Given the description of an element on the screen output the (x, y) to click on. 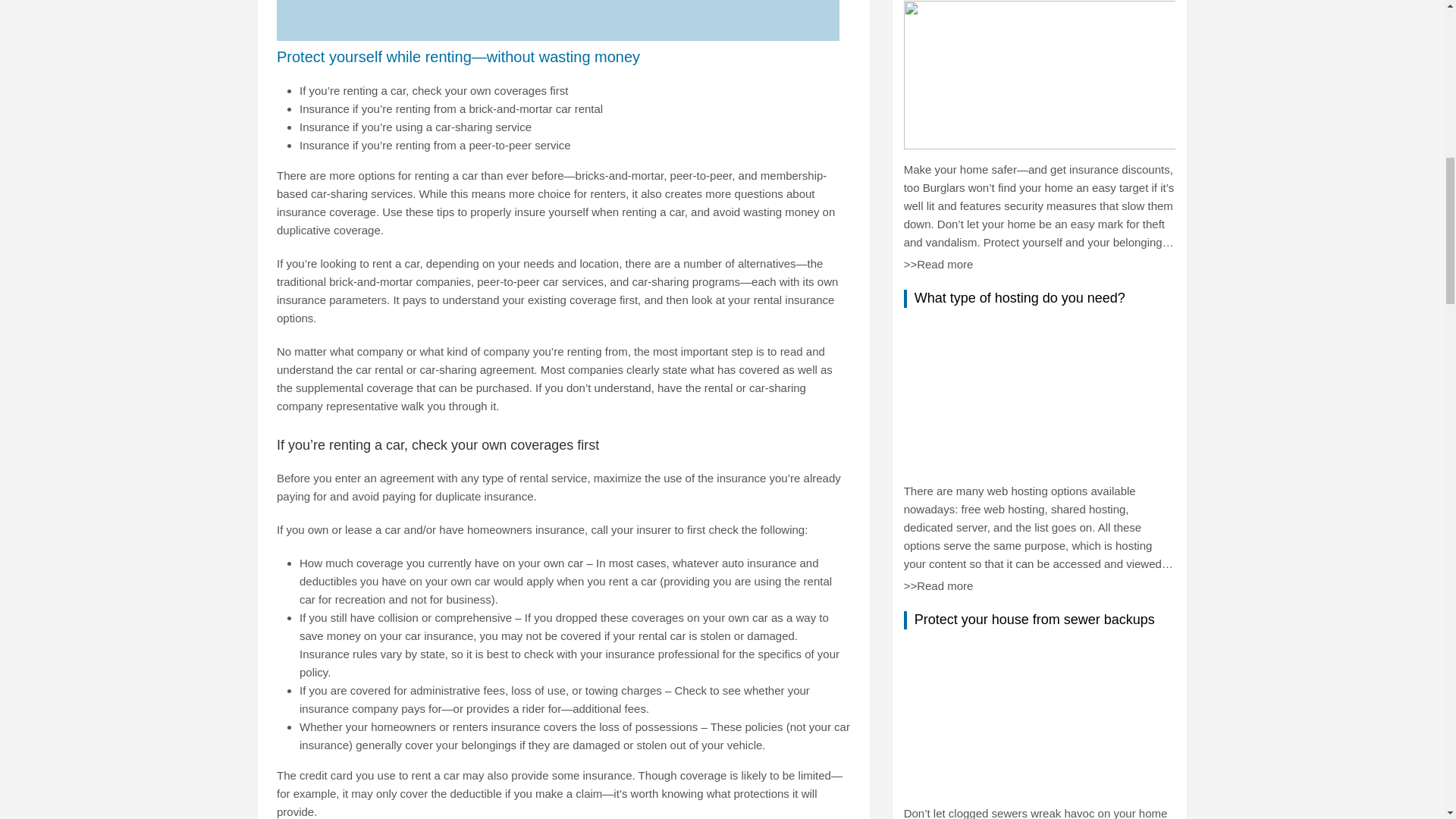
Advertisement (558, 20)
